Given the description of an element on the screen output the (x, y) to click on. 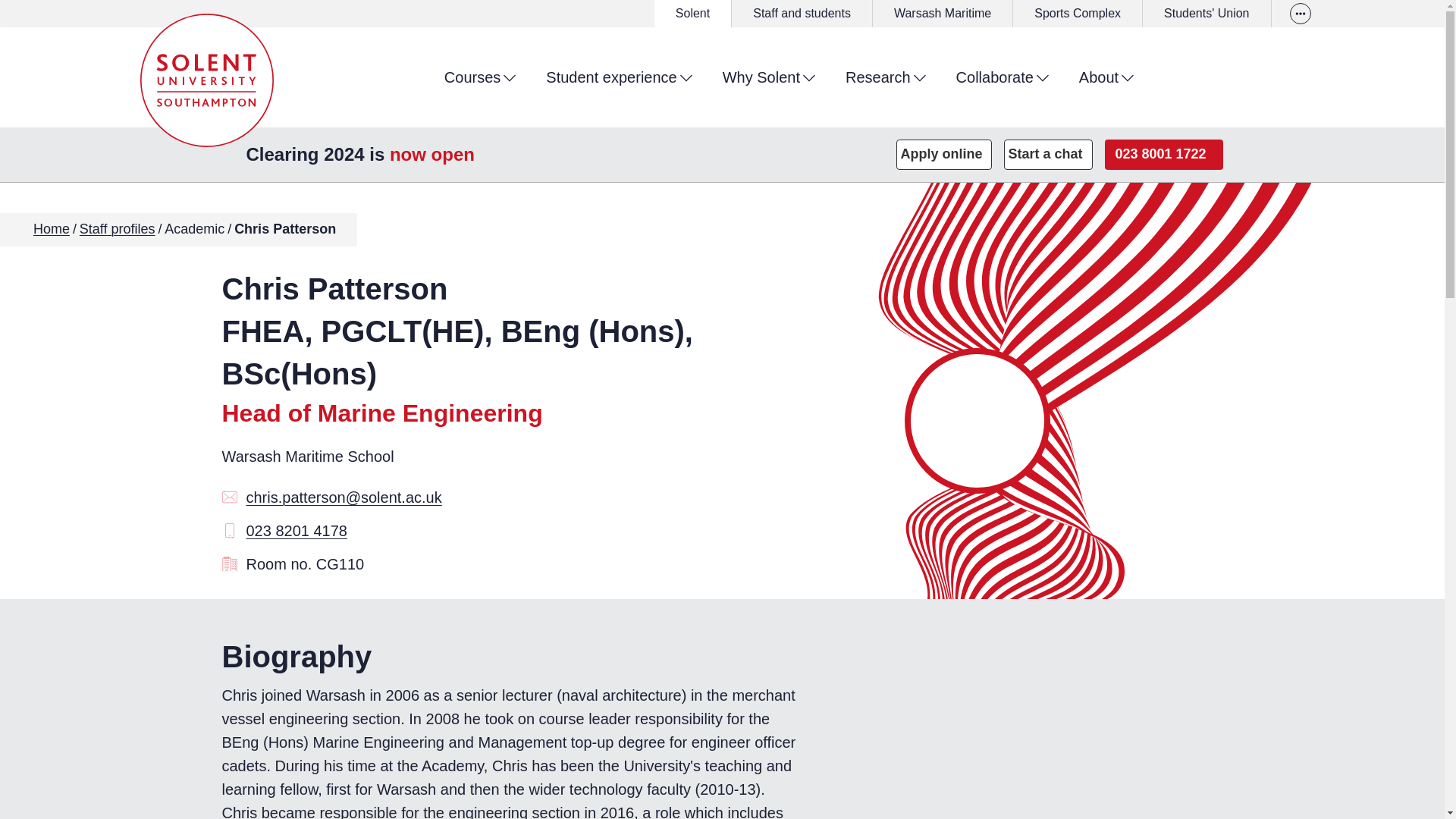
Courses (479, 76)
Warsash Maritime (941, 13)
Staff and students (802, 13)
Sports Complex (1077, 13)
Student experience (618, 76)
Students' Union (1205, 13)
Solent (691, 13)
